Given the description of an element on the screen output the (x, y) to click on. 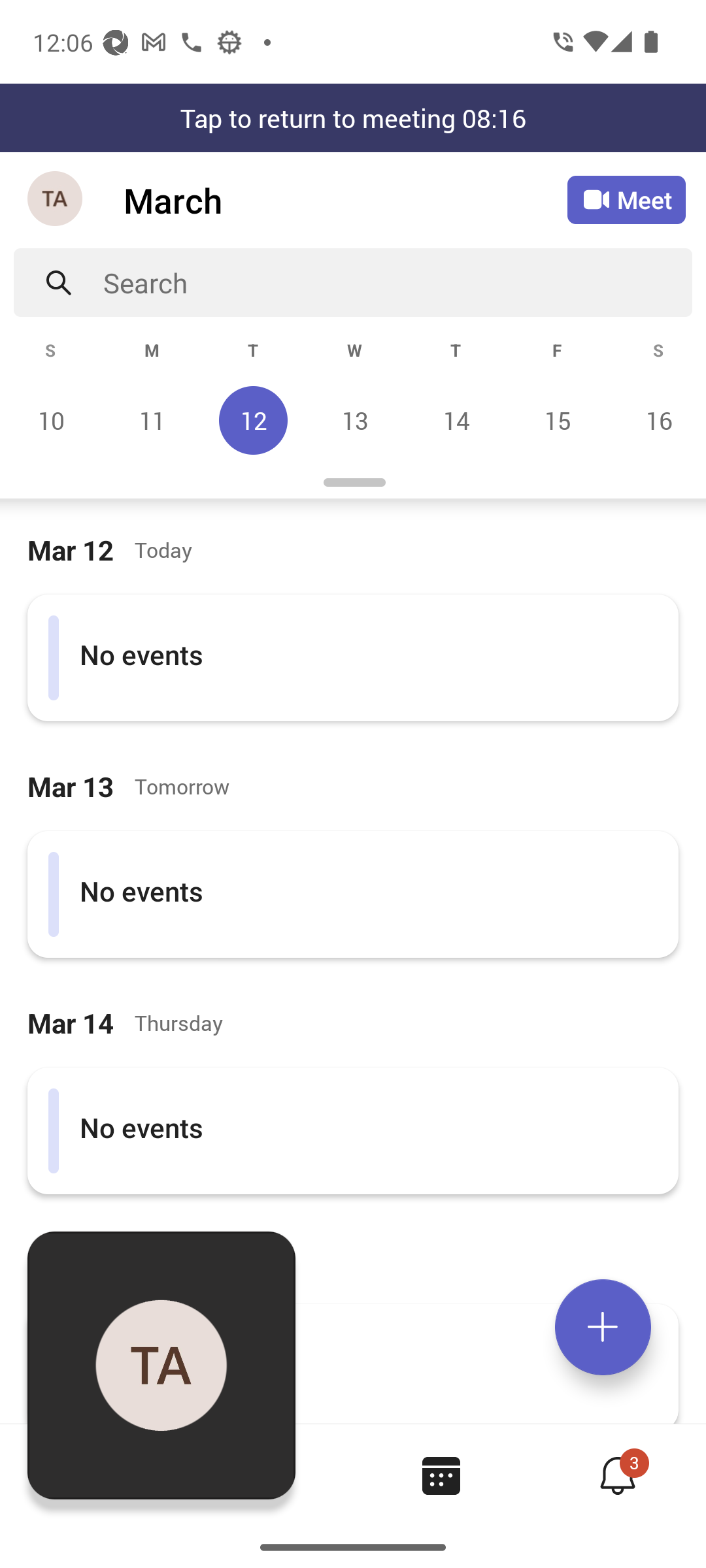
Tap to return to meeting 08:16 (353, 117)
Navigation (56, 199)
Meet Meet now or join with an ID (626, 199)
Search (397, 281)
Sunday, March 10 10 (50, 420)
Monday, March 11 11 (151, 420)
Tuesday, March 12, Today, Selected 12 (253, 420)
Wednesday, March 13 13 (354, 420)
Thursday, March 14 14 (455, 420)
Friday, March 15 15 (556, 420)
Saturday, March 16 16 (656, 420)
Expand meetings menu (602, 1327)
Calendar tab, 3 of 4 (441, 1475)
Activity tab,4 of 4, not selected, 3 new 3 (617, 1475)
